Given the description of an element on the screen output the (x, y) to click on. 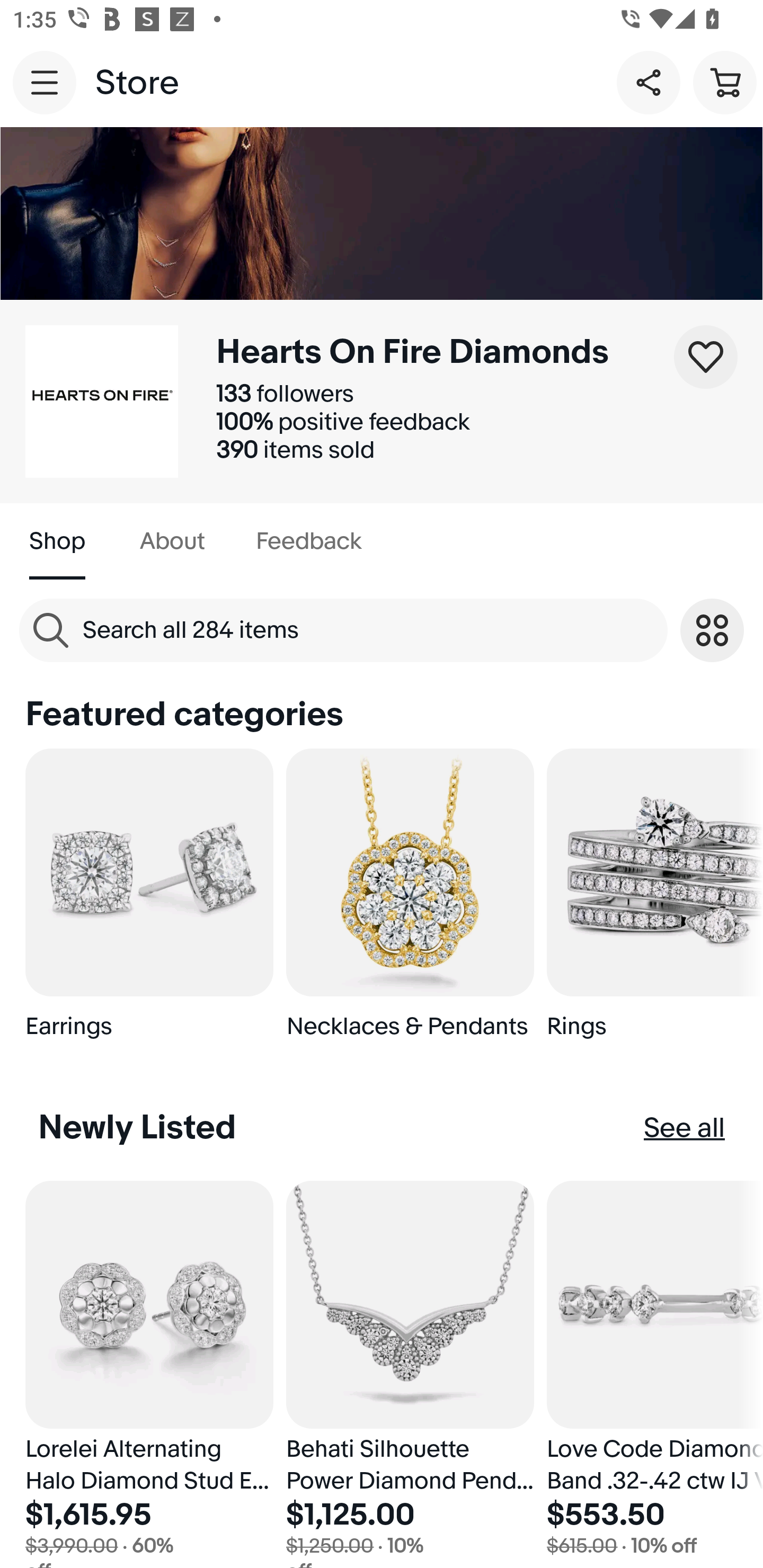
Main navigation, open (44, 82)
Share this page (648, 81)
Cart button shopping cart (724, 81)
Save this seller hearts_on_fire (705, 356)
About (172, 541)
Feedback (308, 541)
Search all 284 items (343, 629)
Shop by category (711, 629)
Earrings Earrings Earrings (149, 901)
Rings Rings Rings (655, 901)
See all (683, 1127)
